Given the description of an element on the screen output the (x, y) to click on. 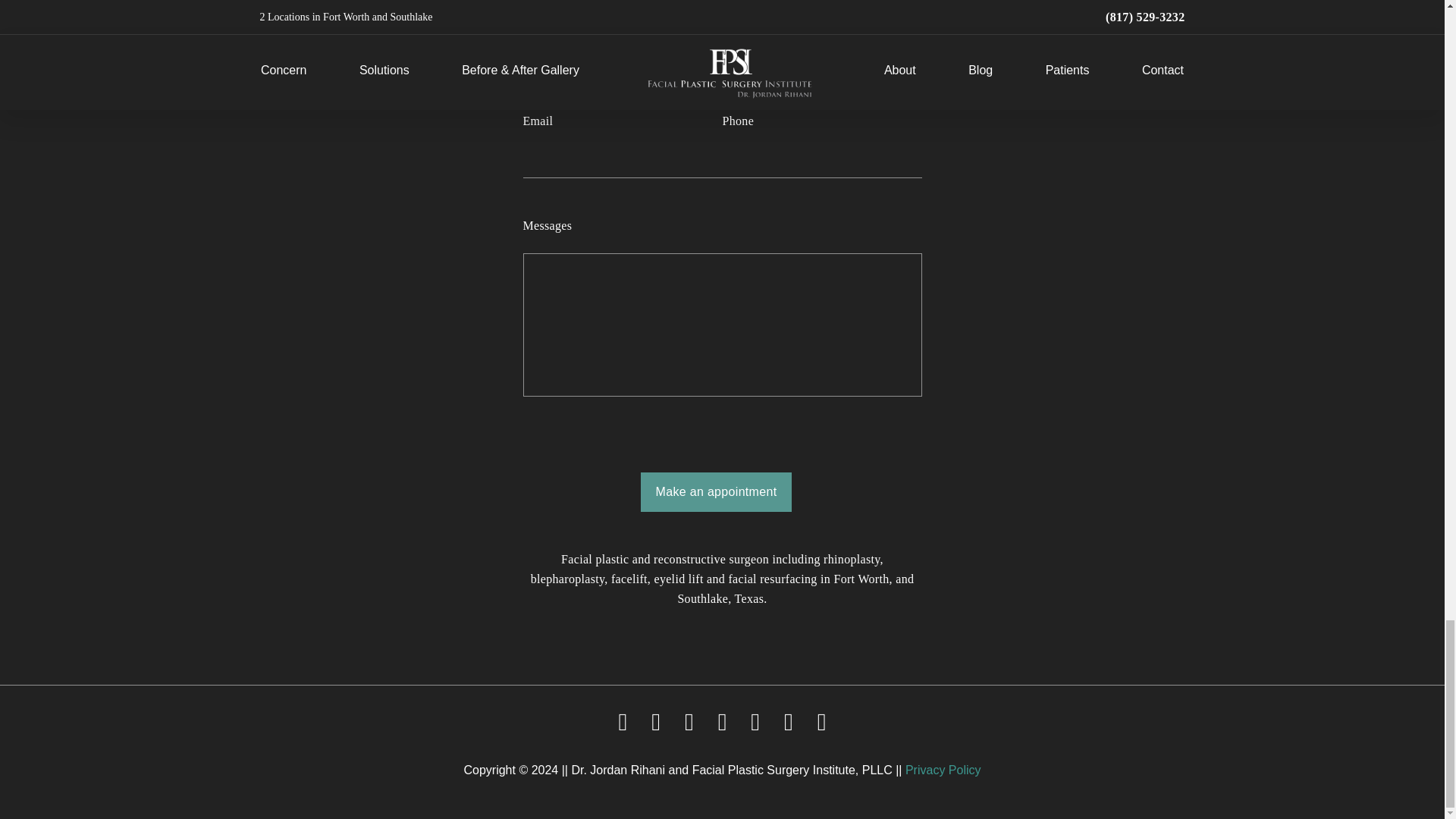
Privacy Policy (943, 769)
Make an appointment (716, 491)
Make an appointment (716, 491)
